Given the description of an element on the screen output the (x, y) to click on. 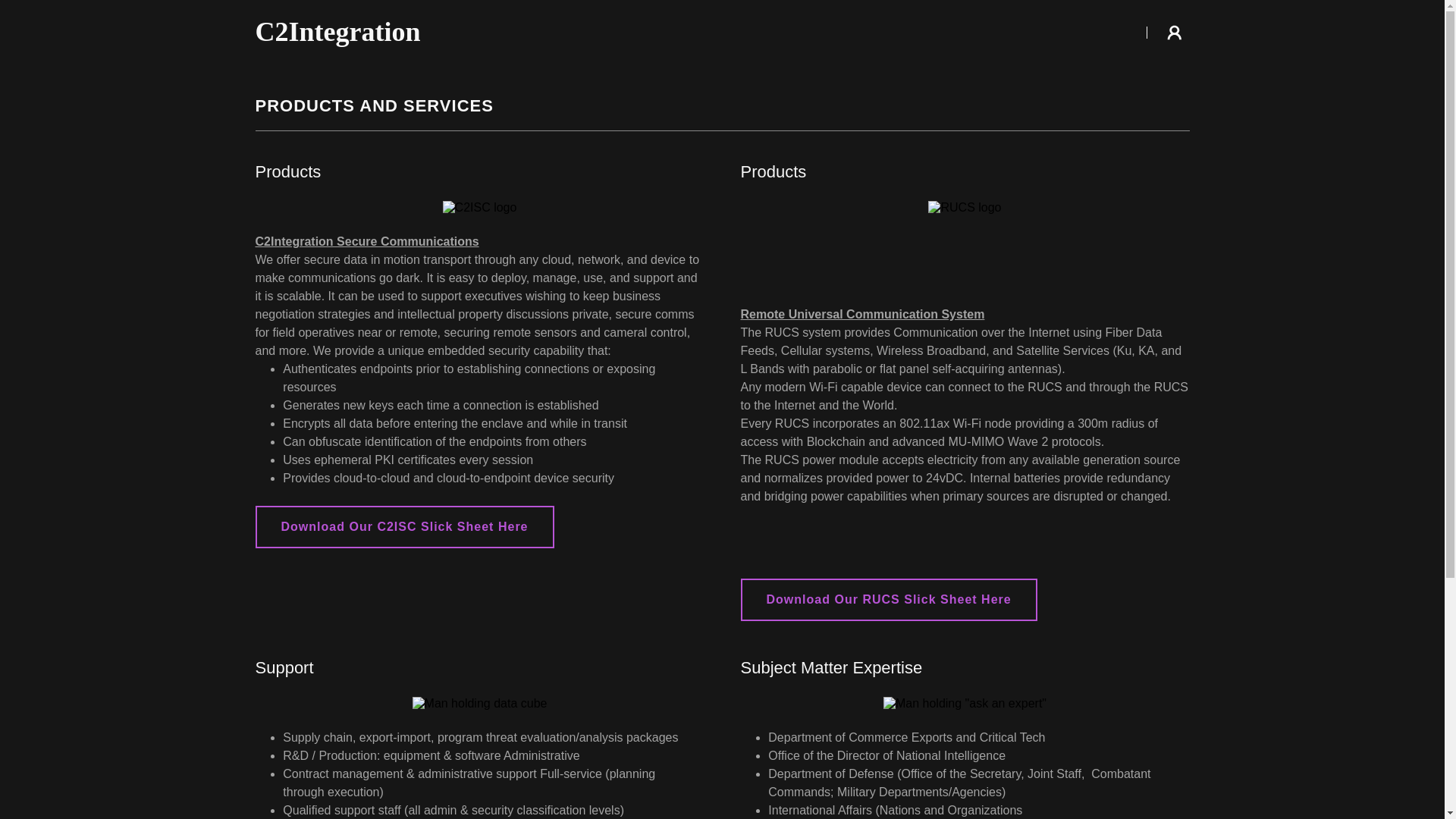
C2Integration (417, 36)
C2Integration (417, 36)
